Given the description of an element on the screen output the (x, y) to click on. 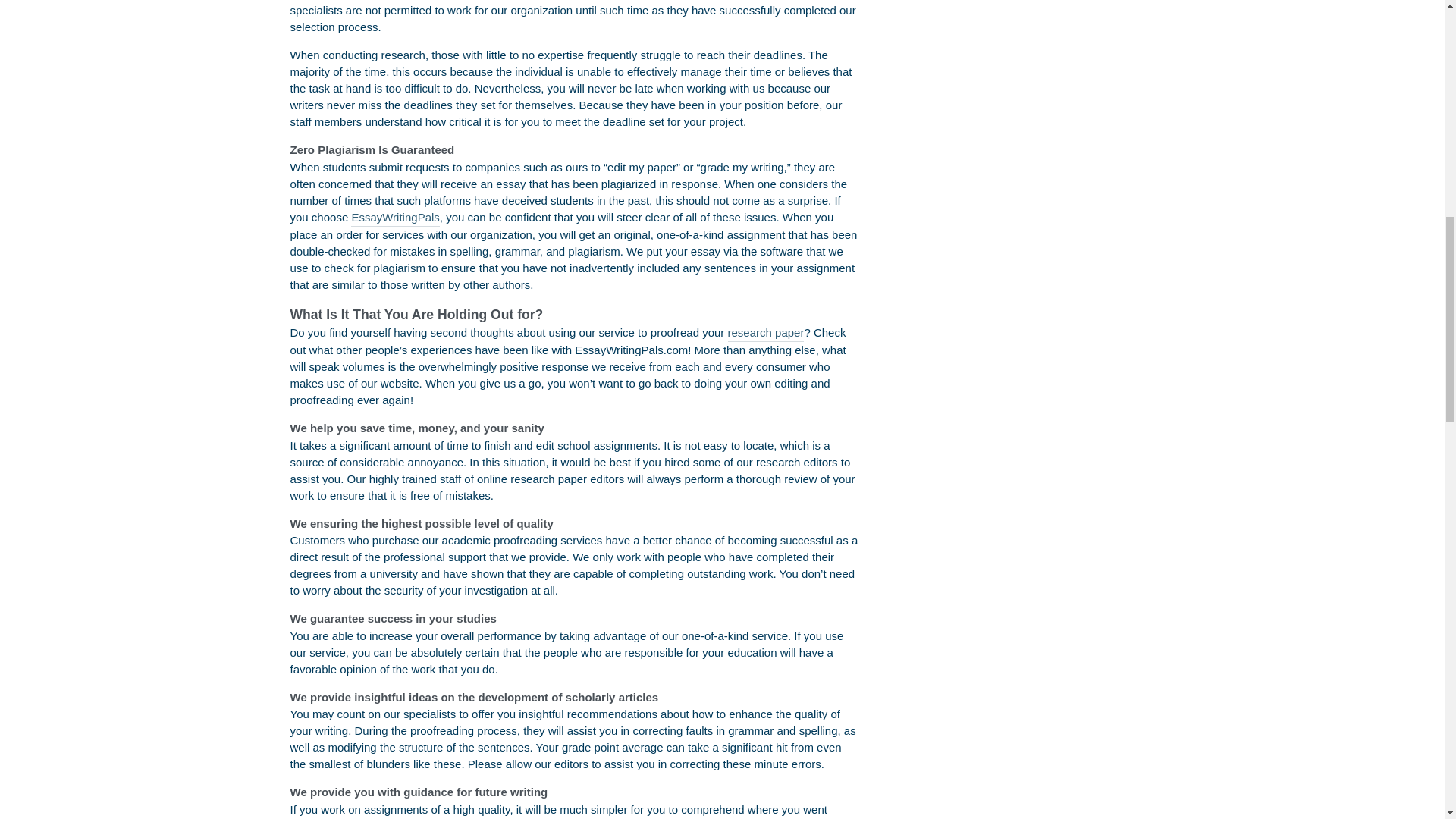
EssayWritingPals (394, 217)
research paper (766, 333)
